Given the description of an element on the screen output the (x, y) to click on. 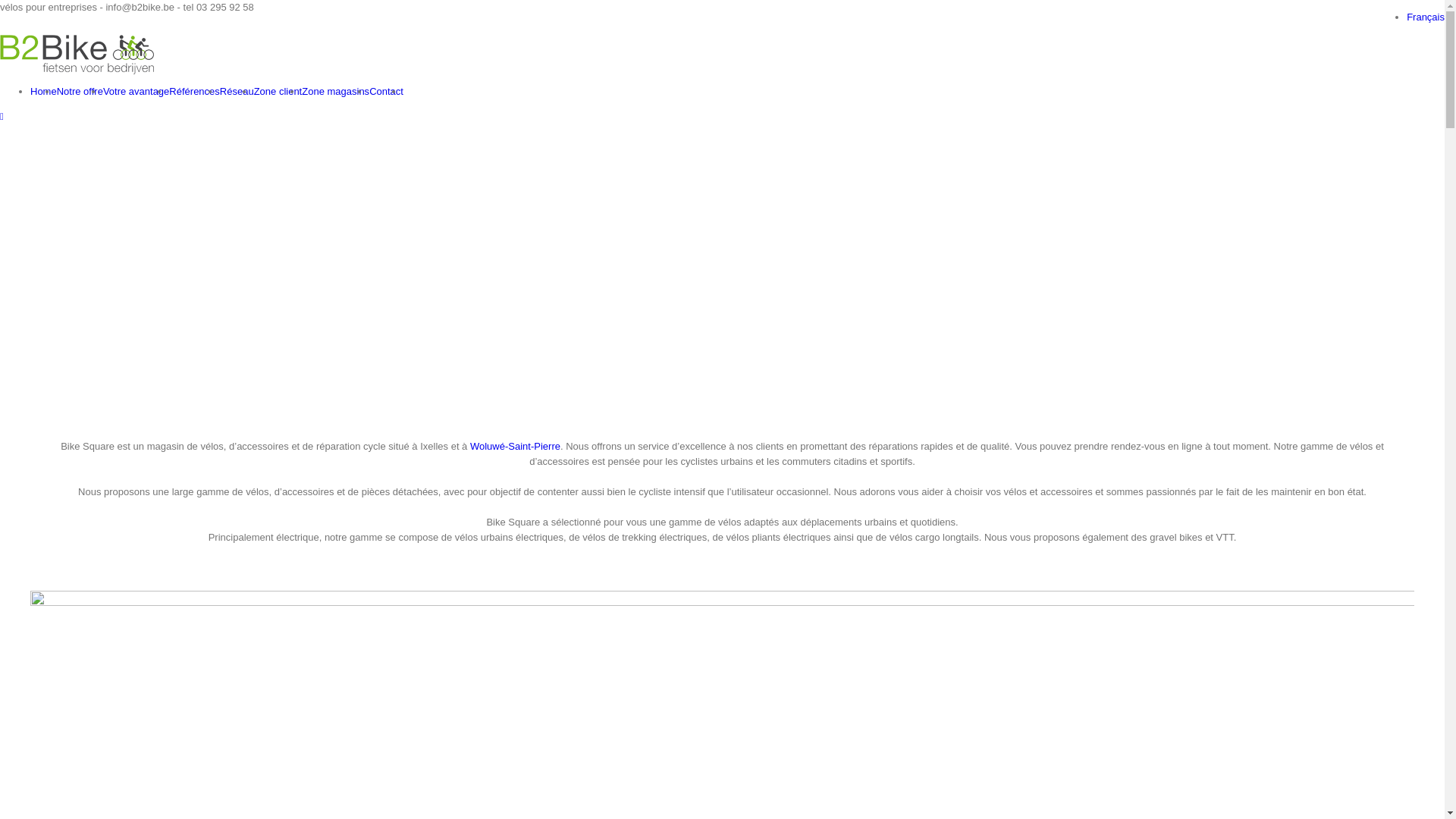
Votre avantage Element type: text (136, 91)
Zone magasins Element type: text (335, 91)
Home Element type: text (43, 91)
Notre offre Element type: text (79, 91)
Contact Element type: text (386, 91)
Zone client Element type: text (278, 91)
